Given the description of an element on the screen output the (x, y) to click on. 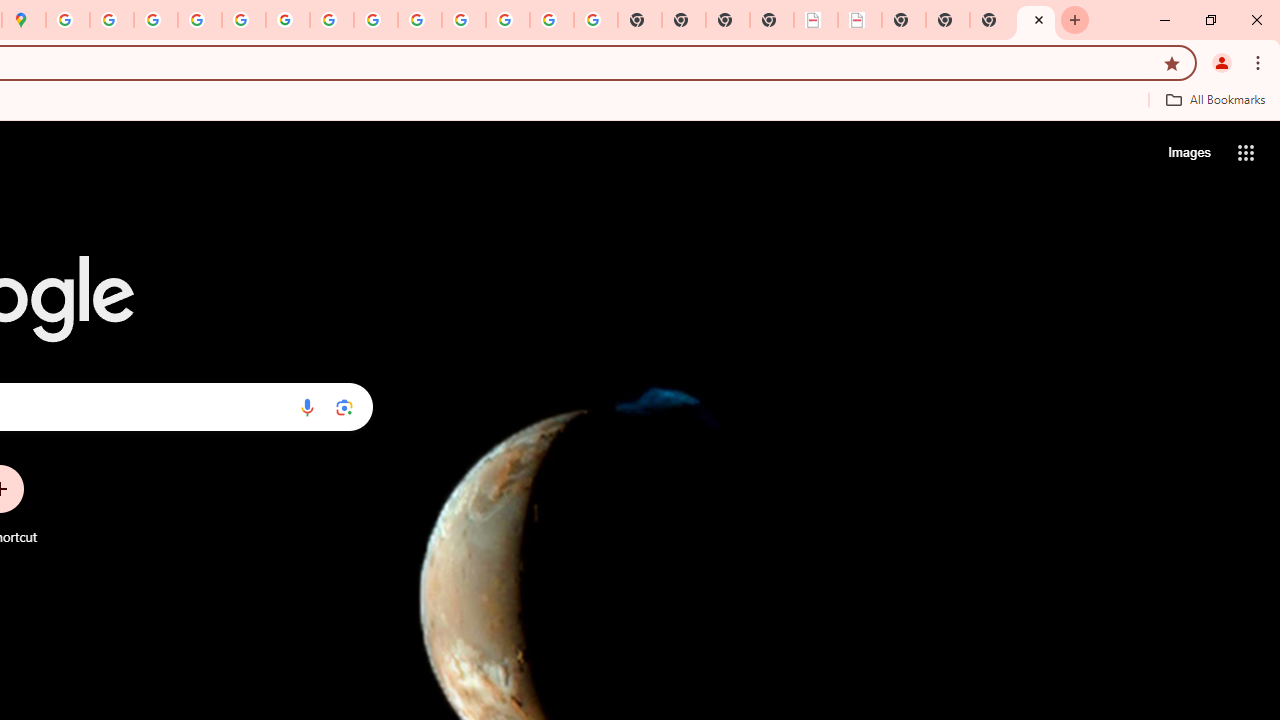
New Tab (991, 20)
Sign in - Google Accounts (67, 20)
New Tab (771, 20)
Privacy Help Center - Policies Help (155, 20)
YouTube (331, 20)
Privacy Help Center - Policies Help (199, 20)
LAAD Defence & Security 2025 | BAE Systems (815, 20)
